Given the description of an element on the screen output the (x, y) to click on. 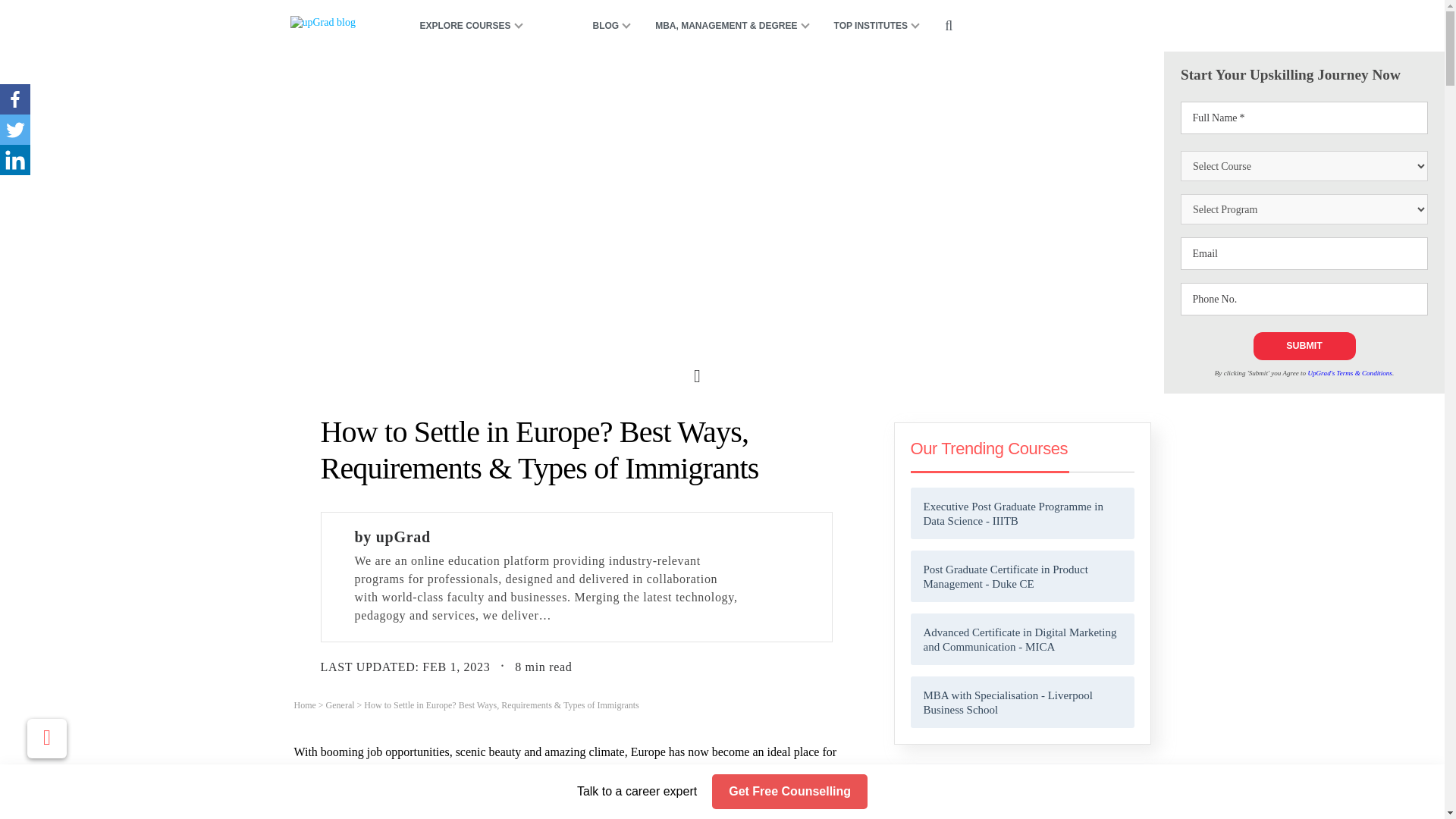
Submit (1303, 346)
BLOG (606, 25)
EXPLORE COURSES (474, 25)
